Given the description of an element on the screen output the (x, y) to click on. 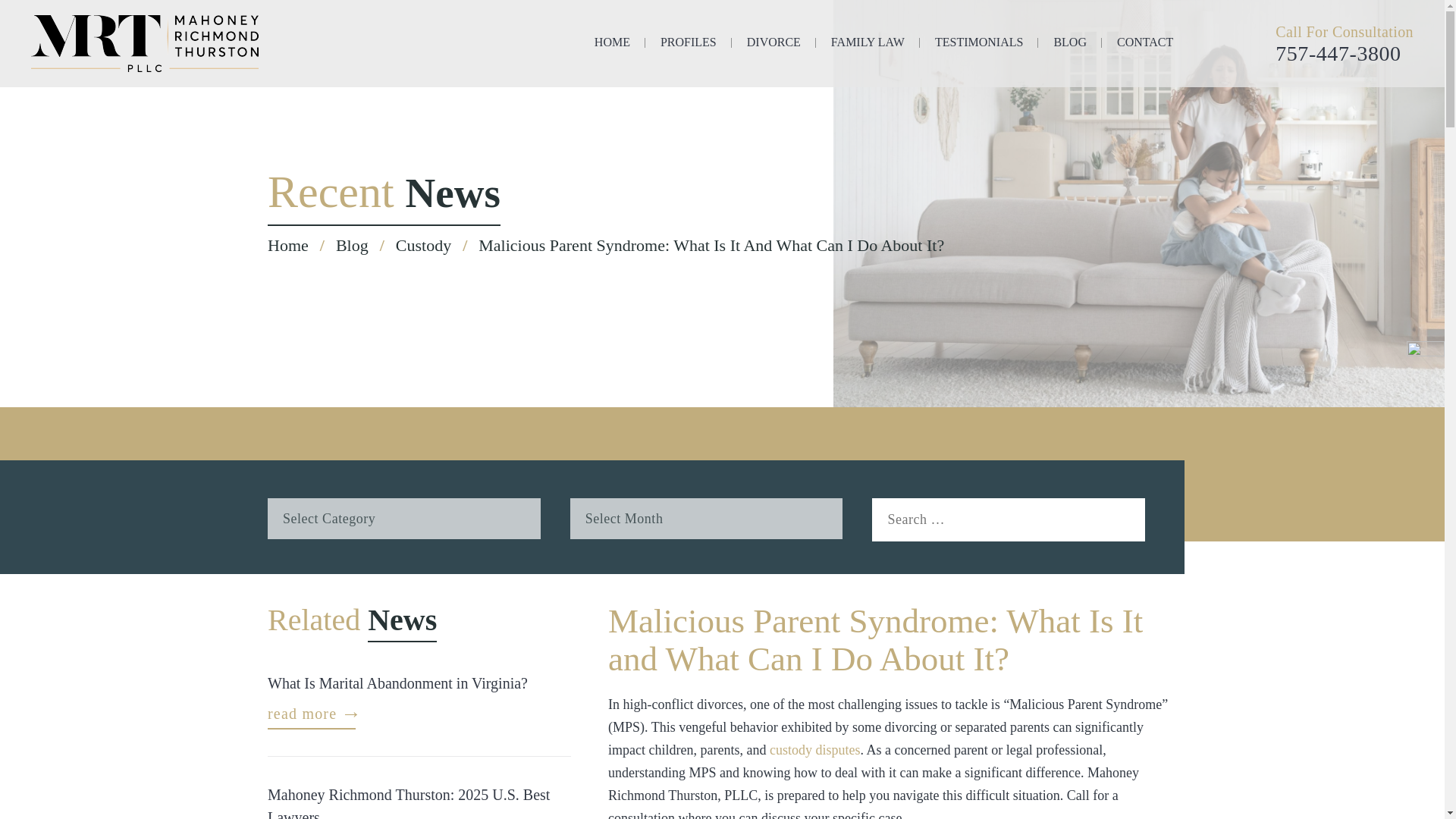
Go to the Custody category archives. (423, 244)
Go to MRT Law. (287, 244)
PROFILES (688, 44)
HOME (612, 44)
DIVORCE (773, 44)
Go to Blog. (352, 244)
